Given the description of an element on the screen output the (x, y) to click on. 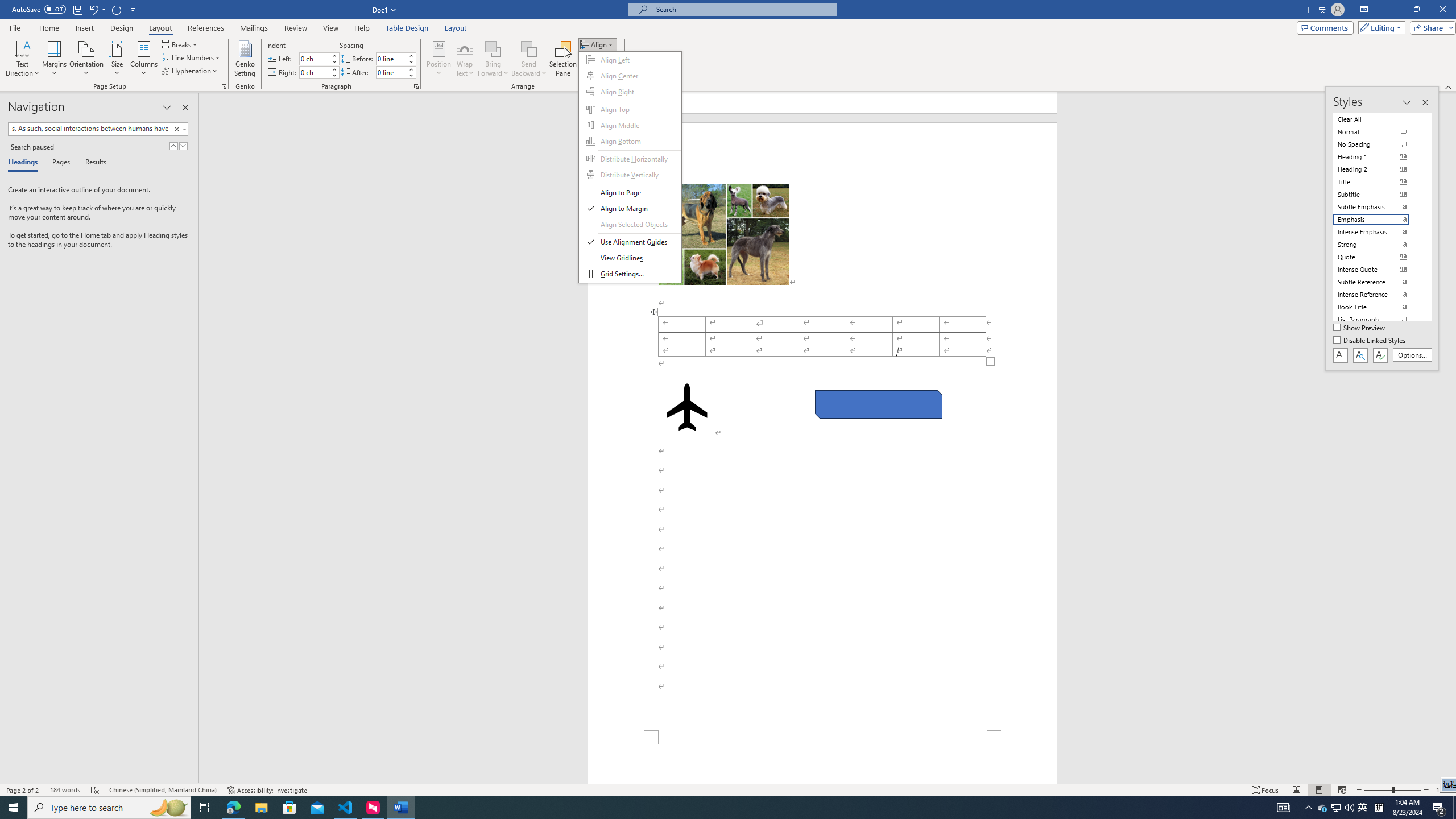
Text Direction (22, 58)
Emphasis (1377, 219)
Less (411, 75)
No Spacing (1377, 144)
Next Result (183, 145)
Subtle Emphasis (1377, 206)
Word - 1 running window (400, 807)
Clear All (1377, 119)
Send Backward (528, 48)
